Given the description of an element on the screen output the (x, y) to click on. 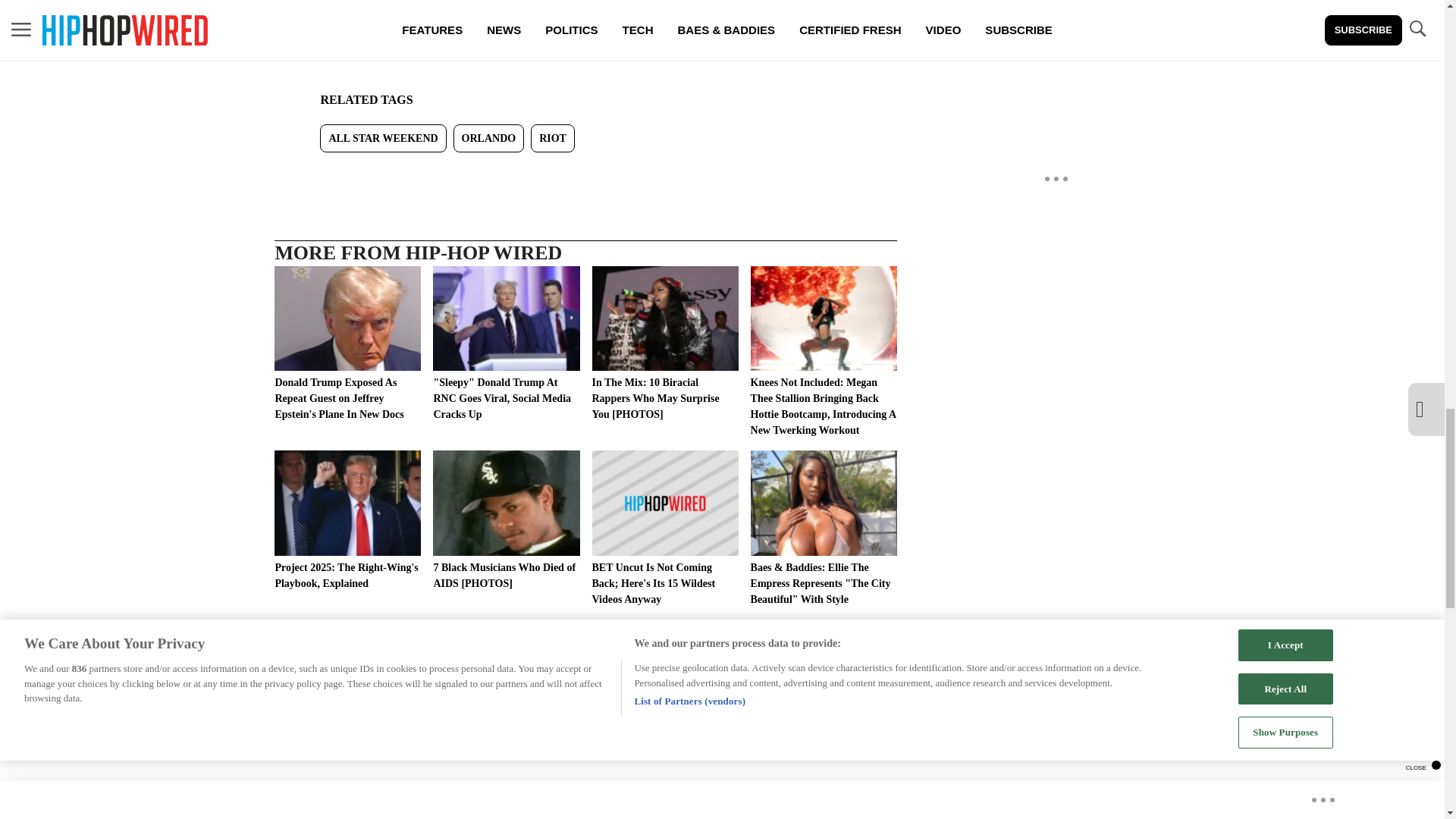
OmegaJai (385, 22)
ORLANDO (488, 138)
RIOT (553, 138)
ALL STAR WEEKEND (382, 138)
Project 2025: The Right-Wing's Playbook, Explained (347, 520)
